Given the description of an element on the screen output the (x, y) to click on. 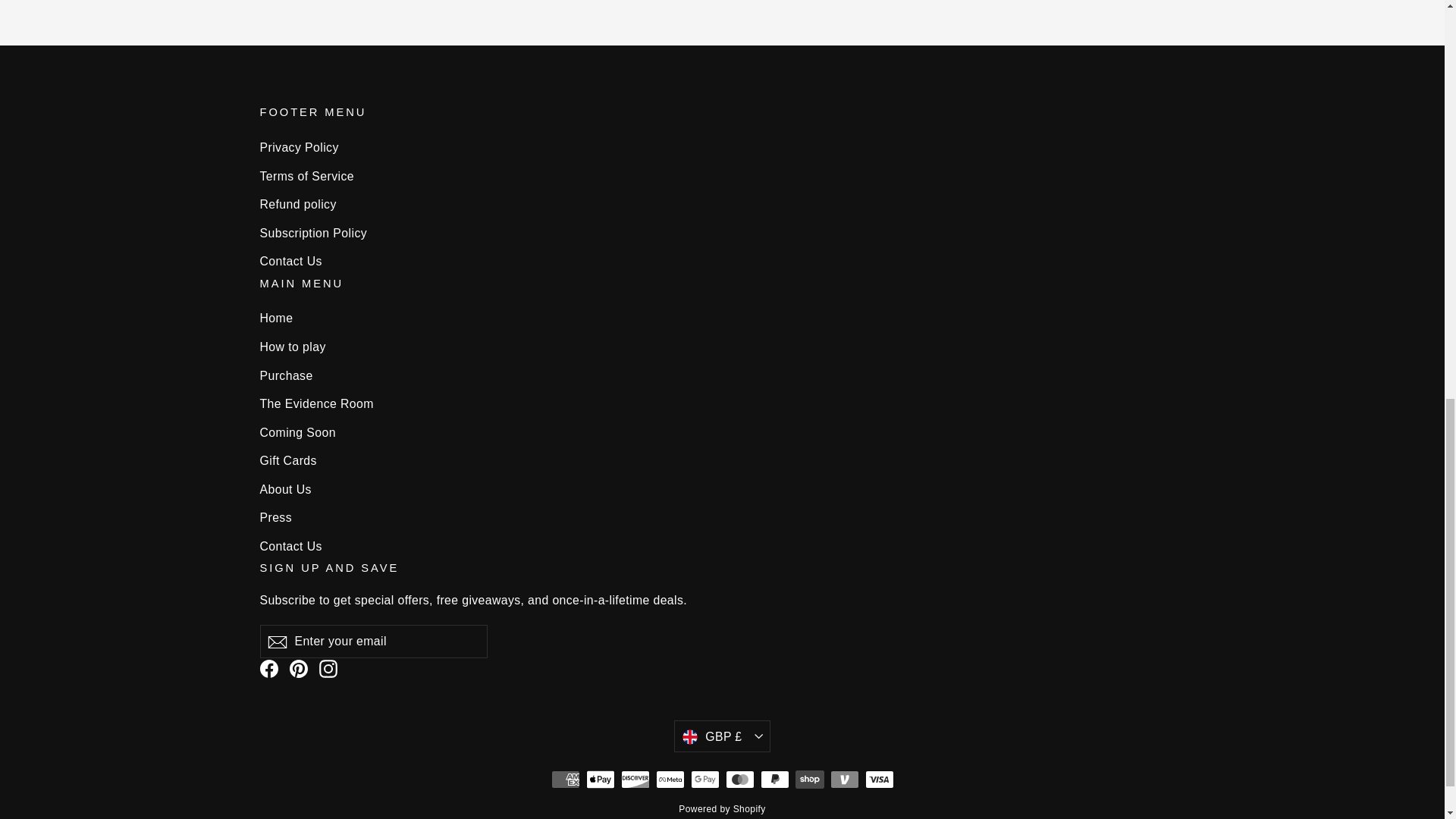
Mastercard (739, 779)
Google Pay (704, 779)
American Express (564, 779)
Meta Pay (669, 779)
Apple Pay (599, 779)
Discover (634, 779)
